Given the description of an element on the screen output the (x, y) to click on. 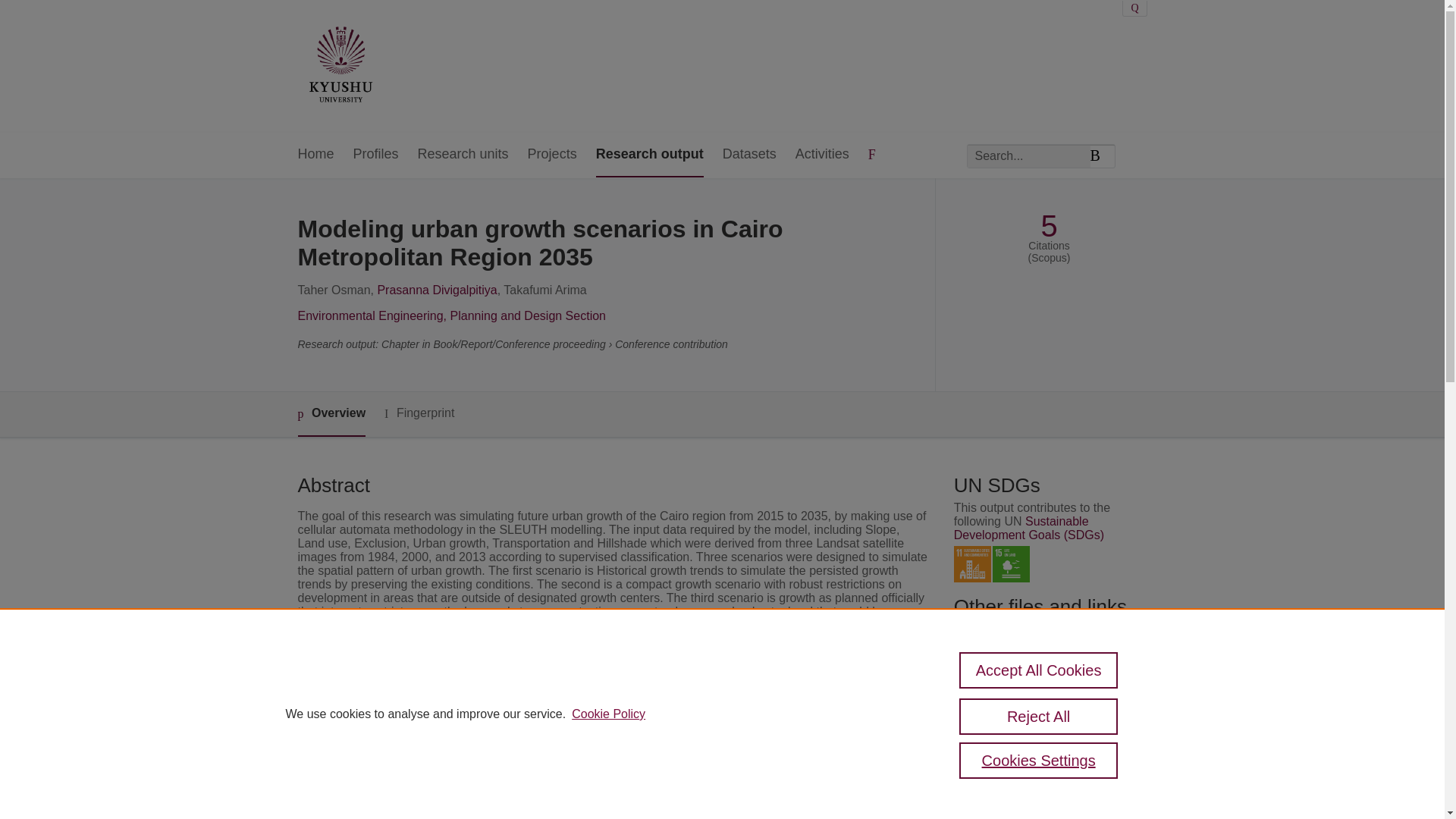
Overview (331, 414)
SDG 11 - Sustainable Cities and Communities (972, 564)
Environmental Engineering, Planning and Design Section (451, 315)
CUPUM (534, 738)
Activities (821, 154)
Research units (462, 154)
SDG 15 - Life on Land (1010, 564)
Profiles (375, 154)
